Given the description of an element on the screen output the (x, y) to click on. 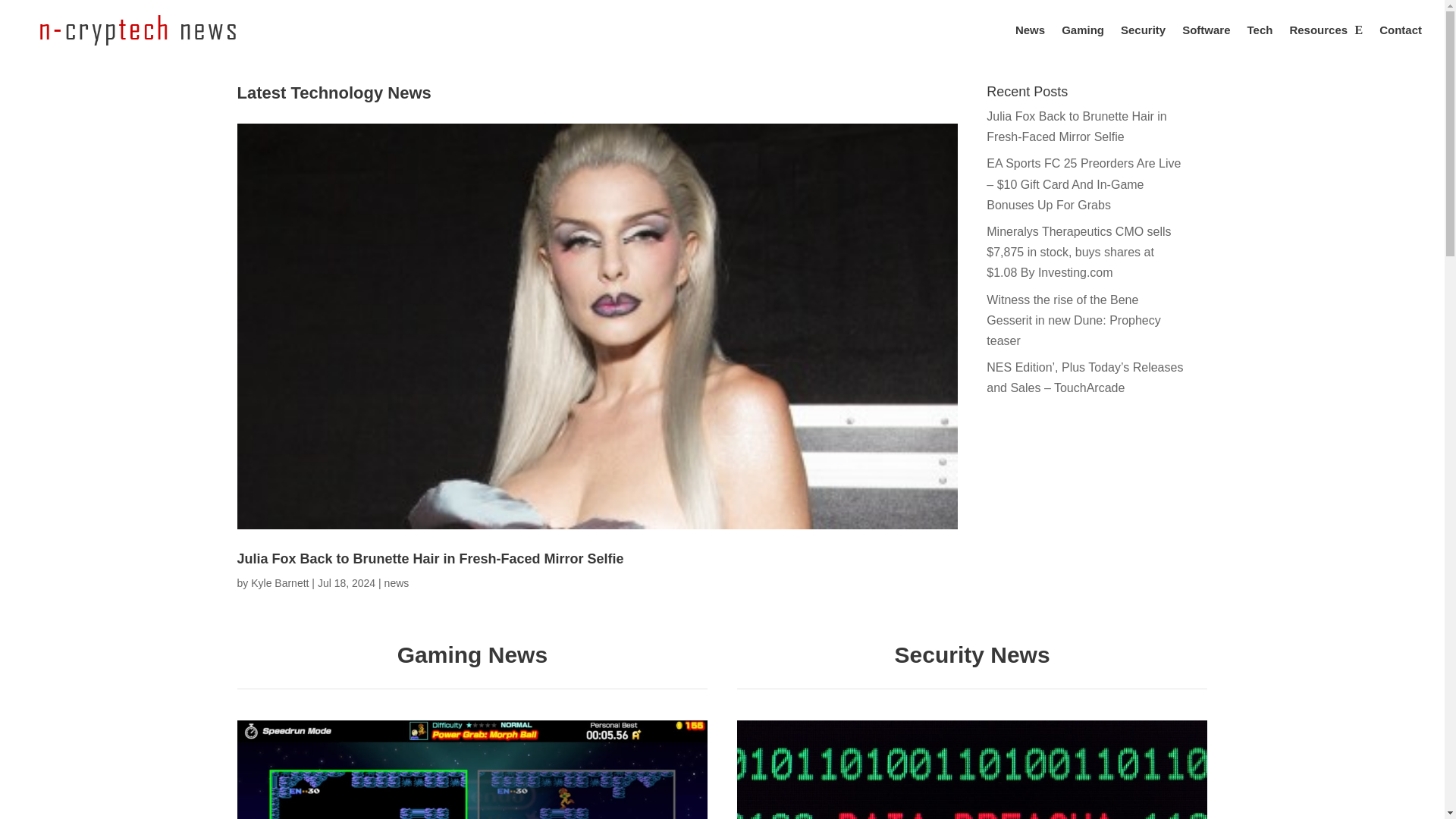
Contact (1400, 42)
Gaming (1082, 42)
Kyle Barnett (279, 582)
Posts by Kyle Barnett (279, 582)
Security (1143, 42)
Tech (1259, 42)
News (1029, 42)
Julia Fox Back to Brunette Hair in Fresh-Faced Mirror Selfie (429, 558)
Resources (1325, 42)
Julia Fox Back to Brunette Hair in Fresh-Faced Mirror Selfie (1076, 126)
news (396, 582)
Software (1206, 42)
